Given the description of an element on the screen output the (x, y) to click on. 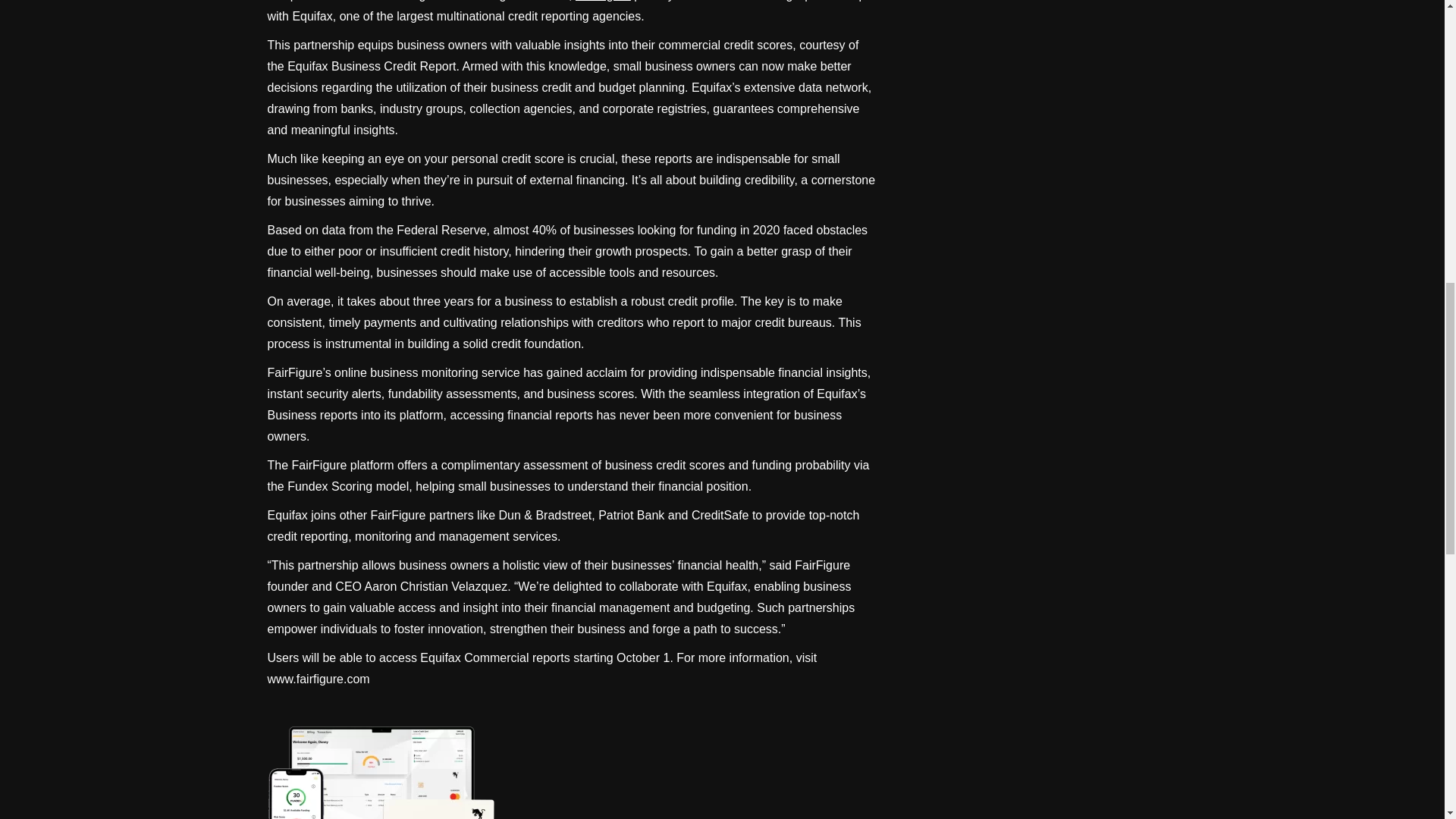
FairFigure (602, 0)
